Given the description of an element on the screen output the (x, y) to click on. 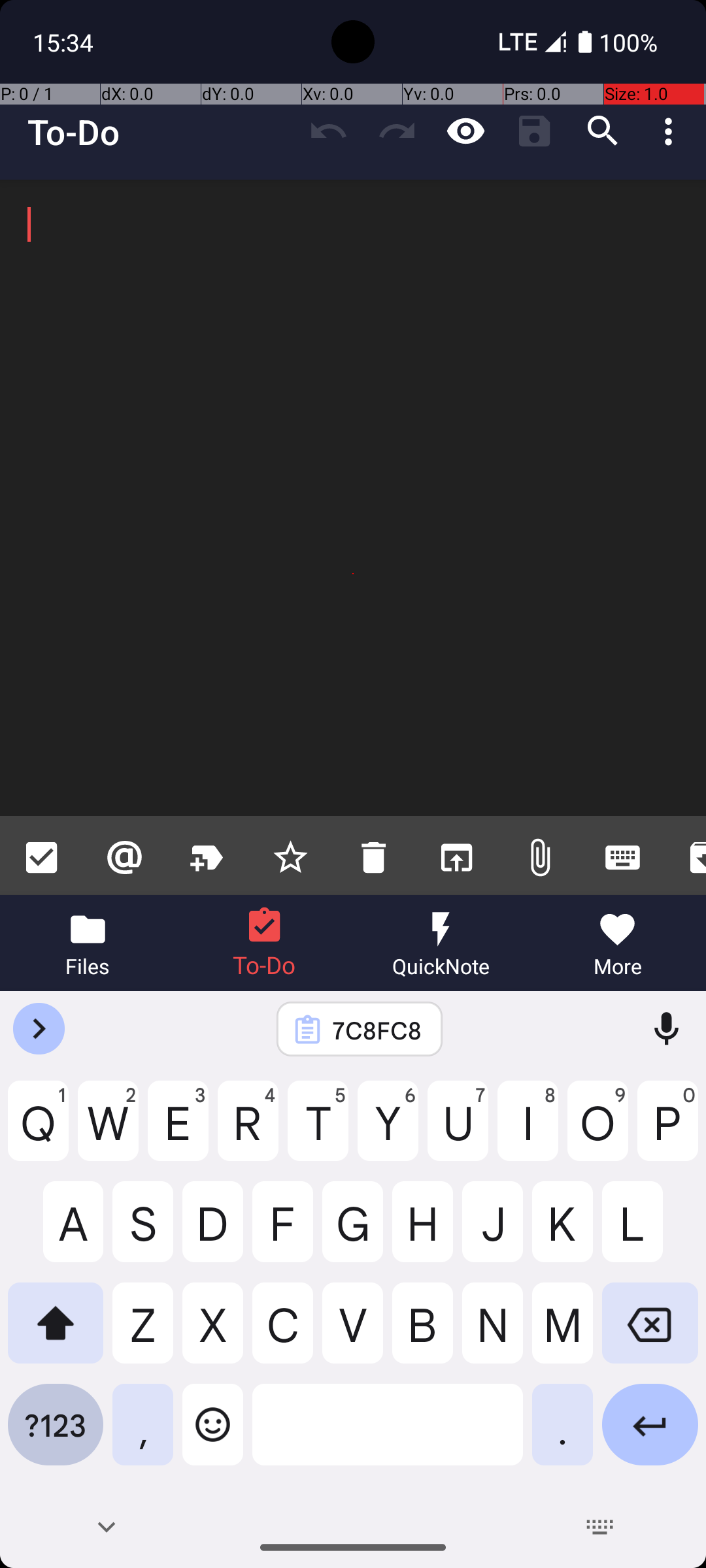
7C8FC8 Element type: android.widget.TextView (376, 1029)
